Given the description of an element on the screen output the (x, y) to click on. 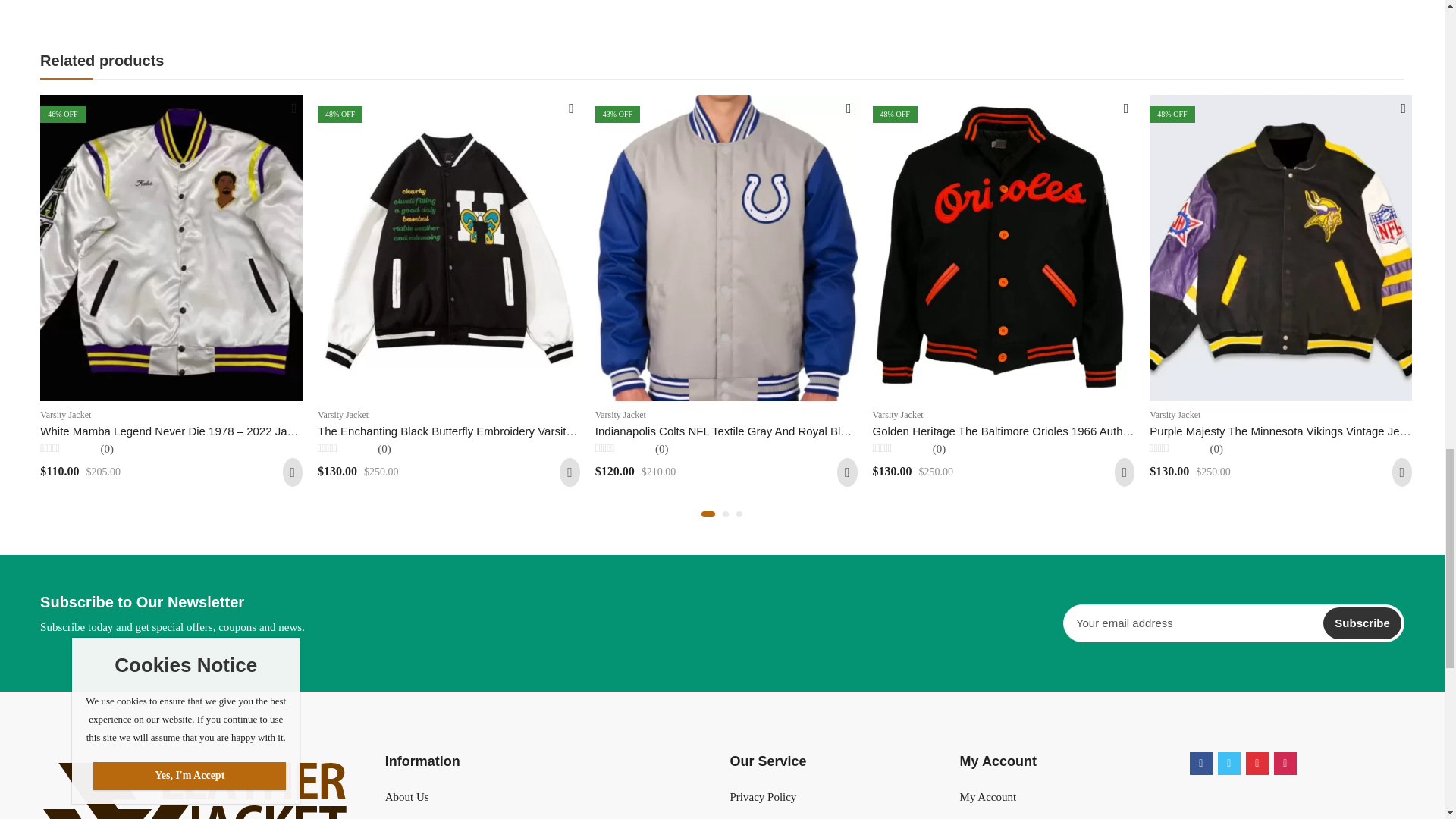
Subscribe (1361, 623)
